Given the description of an element on the screen output the (x, y) to click on. 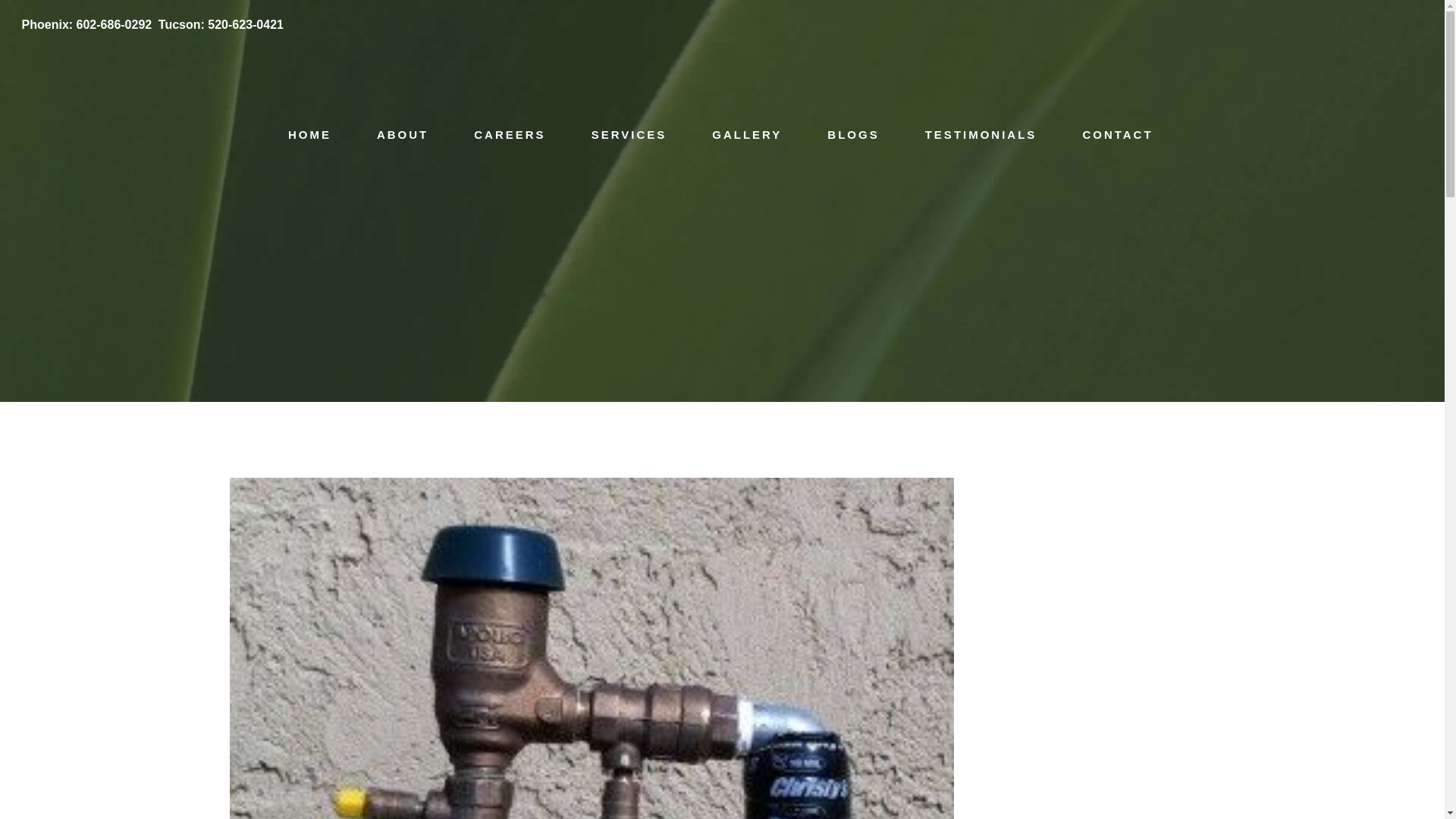
BLOGS (853, 134)
ABOUT (402, 134)
Tucson: 520-623-0421 (220, 24)
CAREERS (509, 134)
SERVICES (629, 134)
CONTACT (1116, 134)
GALLERY (746, 134)
TESTIMONIALS (980, 134)
HOME (308, 134)
Phoenix: 602-686-0292 (86, 24)
